Given the description of an element on the screen output the (x, y) to click on. 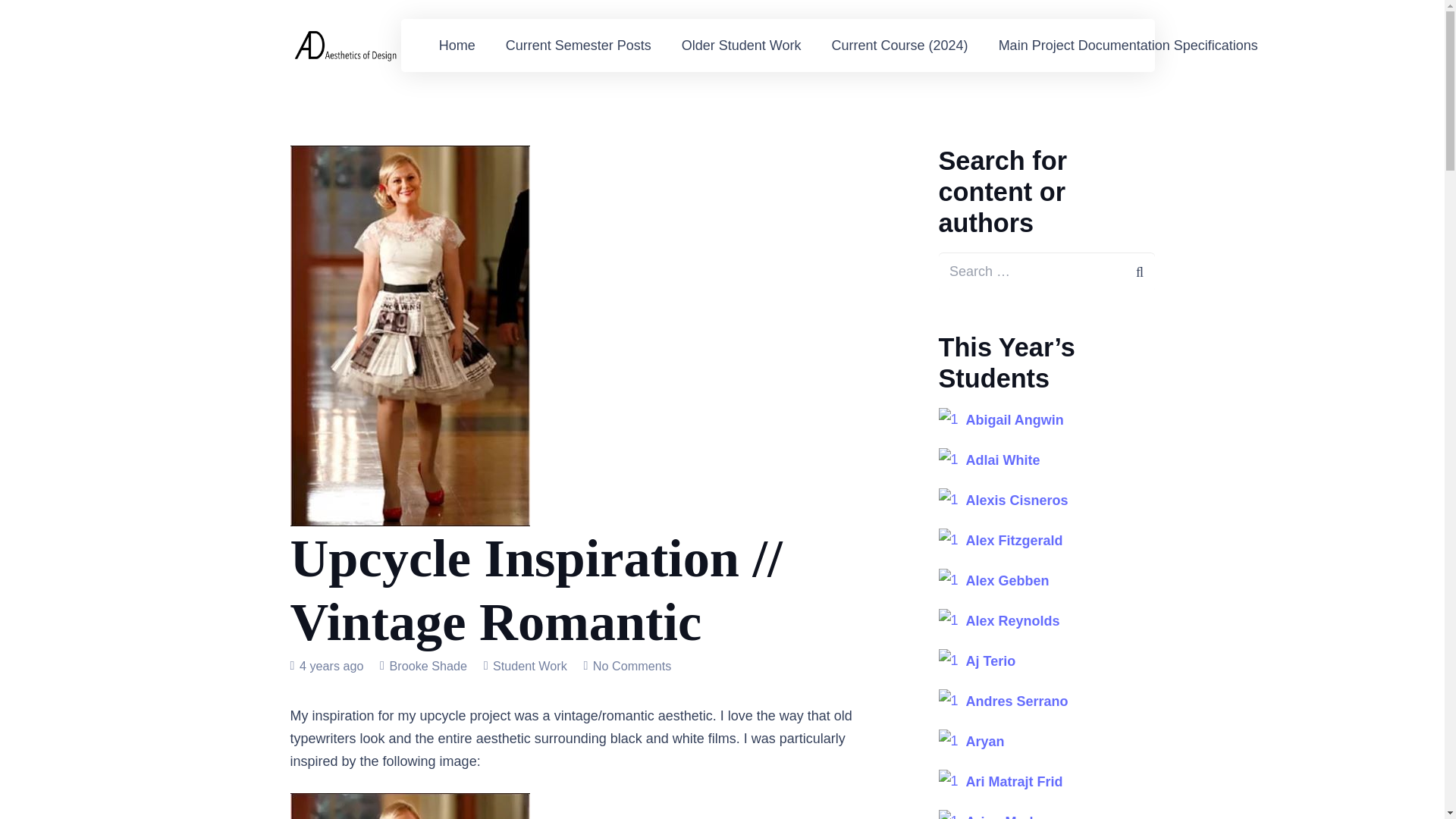
Older Student Work (741, 45)
Home (456, 45)
No Comments (631, 665)
Current Semester Posts (578, 45)
